Given the description of an element on the screen output the (x, y) to click on. 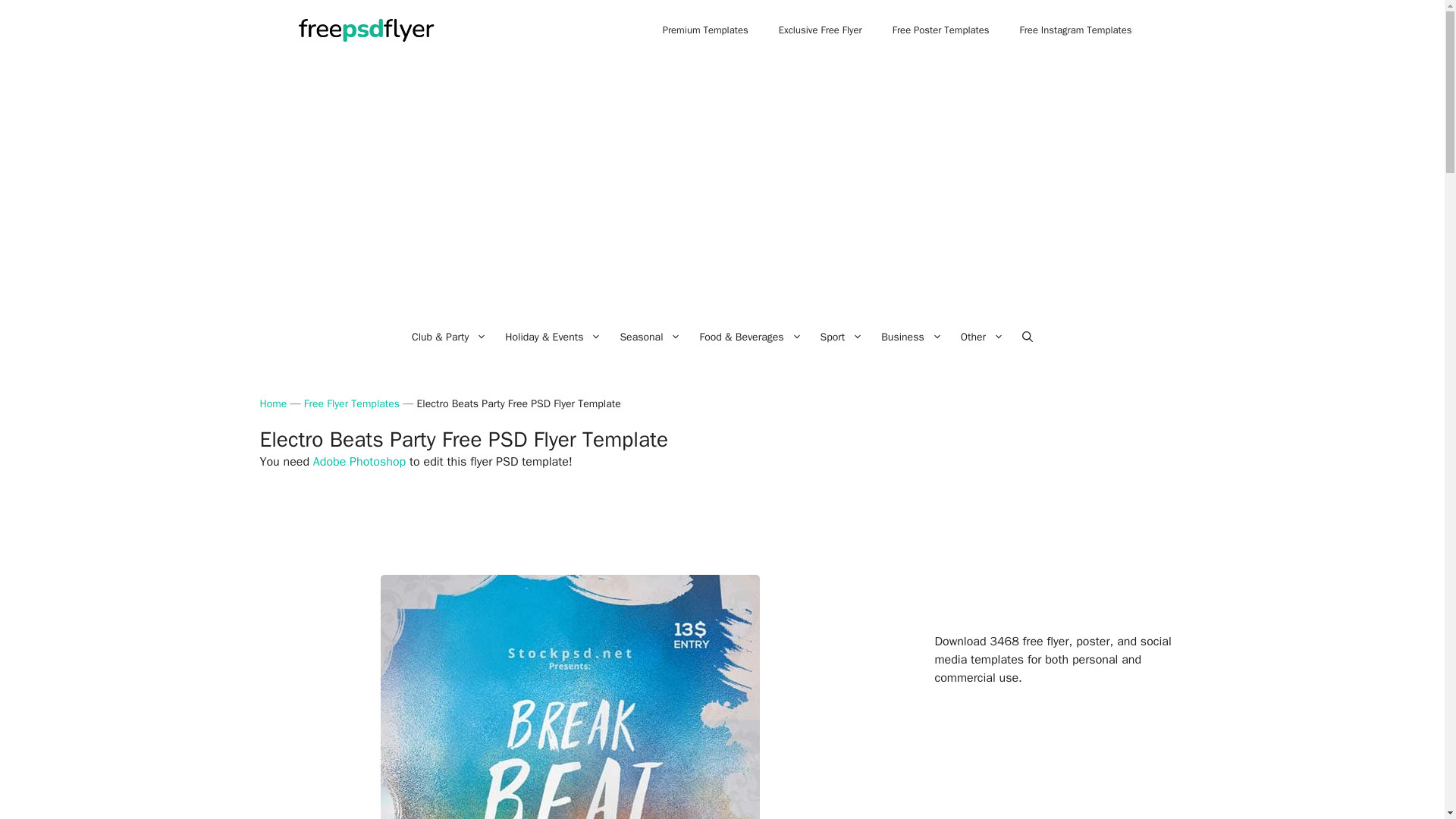
Free Seasonal Event Flyer PSD Templates (650, 337)
Premium Templates (704, 30)
Free Sports Flyer PSD Templates (841, 337)
Exclusive Free Flyer (819, 30)
Free Poster Templates (940, 30)
Free Business Flyer PSD Templates (911, 337)
Miscellaneous Free PSD Flyer Categories (982, 337)
Free Instagram Templates (1075, 30)
